Given the description of an element on the screen output the (x, y) to click on. 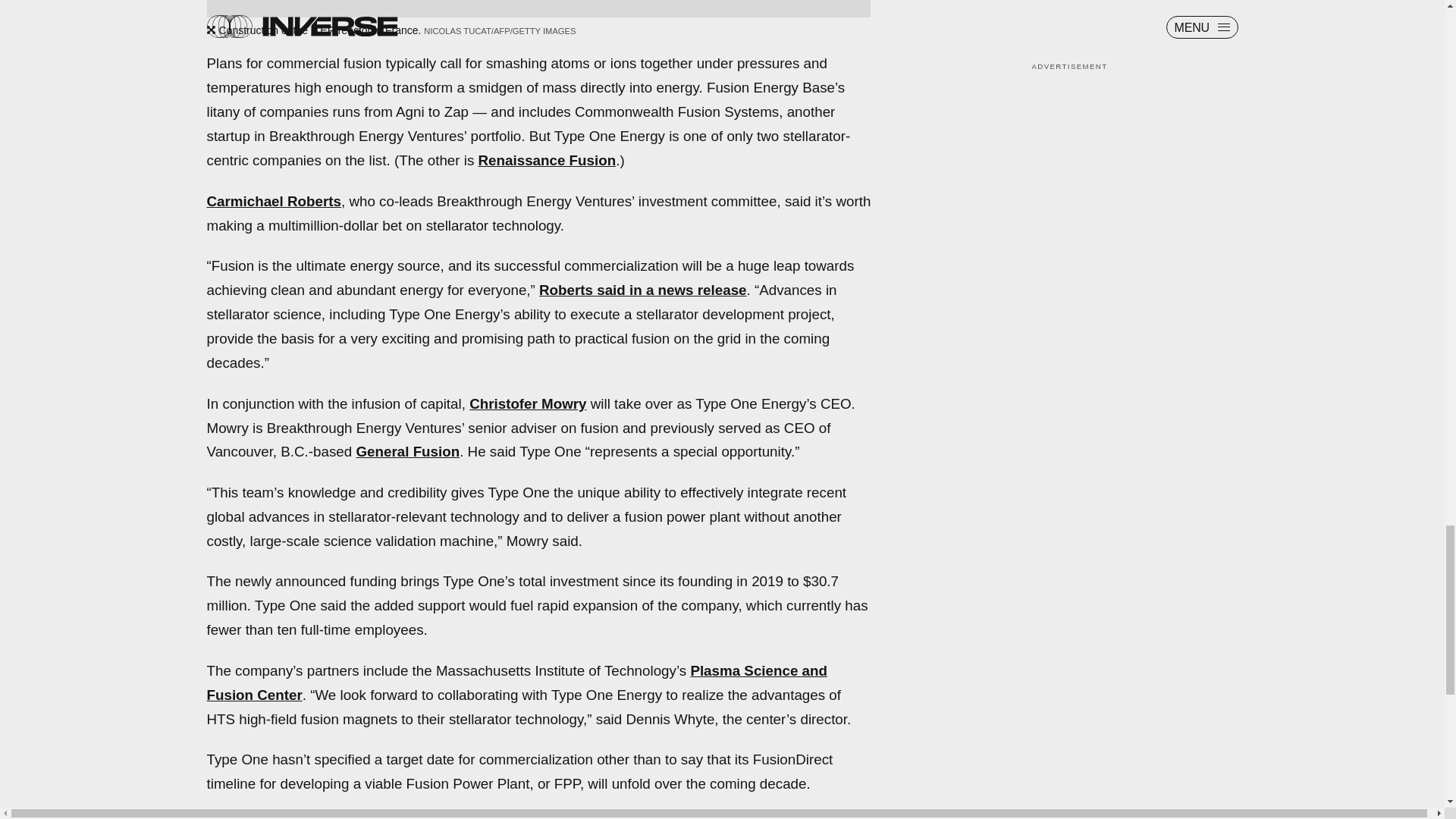
Christofer Mowry (527, 403)
Carmichael Roberts (273, 201)
Roberts said in a news release (642, 289)
General Fusion (407, 451)
Renaissance Fusion (547, 160)
Plasma Science and Fusion Center (516, 682)
